Given the description of an element on the screen output the (x, y) to click on. 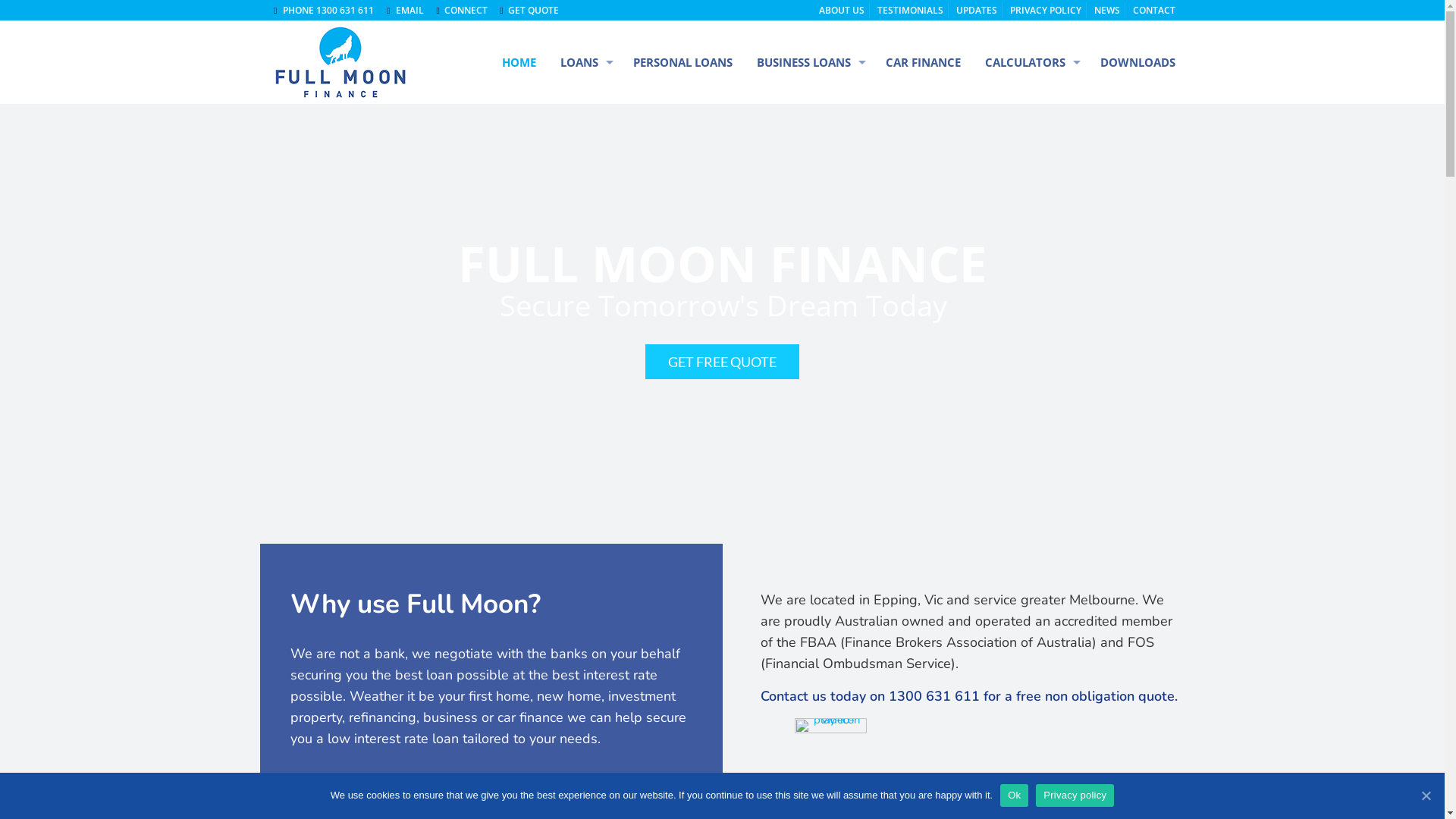
CONTACT US Element type: text (504, 799)
HOME Element type: text (518, 61)
CONNECT Element type: text (459, 9)
CALCULATORS Element type: text (1030, 61)
UPDATES Element type: text (976, 9)
PHONE 1300 631 611 Element type: text (327, 9)
CONTACT Element type: text (1153, 9)
MORE INFO ABOUT US Element type: text (366, 799)
TESTIMONIALS Element type: text (910, 9)
PRIVACY POLICY Element type: text (1045, 9)
Ok Element type: text (1014, 795)
PERSONAL LOANS Element type: text (682, 61)
BUSINESS LOANS Element type: text (808, 61)
DOWNLOADS Element type: text (1131, 61)
EMAIL Element type: text (409, 9)
Privacy policy Element type: text (1074, 795)
GET QUOTE Element type: text (526, 9)
LOANS Element type: text (584, 61)
CAR FINANCE Element type: text (922, 61)
FULL MOON FINANCE Element type: hover (338, 61)
ABOUT US Element type: text (841, 9)
NEWS Element type: text (1107, 9)
